Given the description of an element on the screen output the (x, y) to click on. 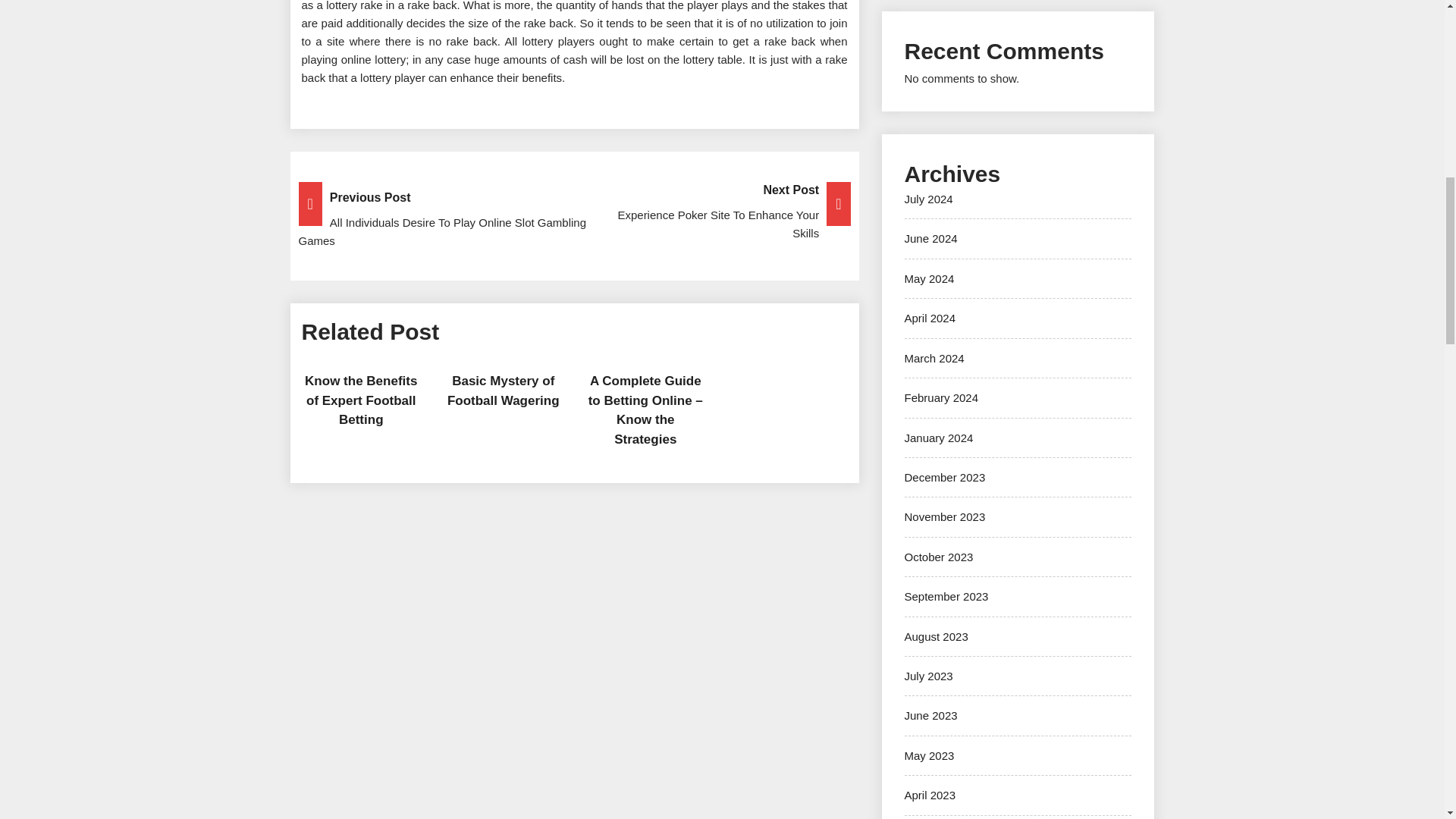
January 2024 (938, 436)
February 2024 (941, 397)
June 2024 (930, 237)
July 2024 (928, 198)
Know the Benefits of Expert Football Betting (360, 399)
April 2024 (929, 318)
March 2024 (933, 358)
May 2024 (928, 278)
Basic Mystery of Football Wagering (574, 212)
